Given the description of an element on the screen output the (x, y) to click on. 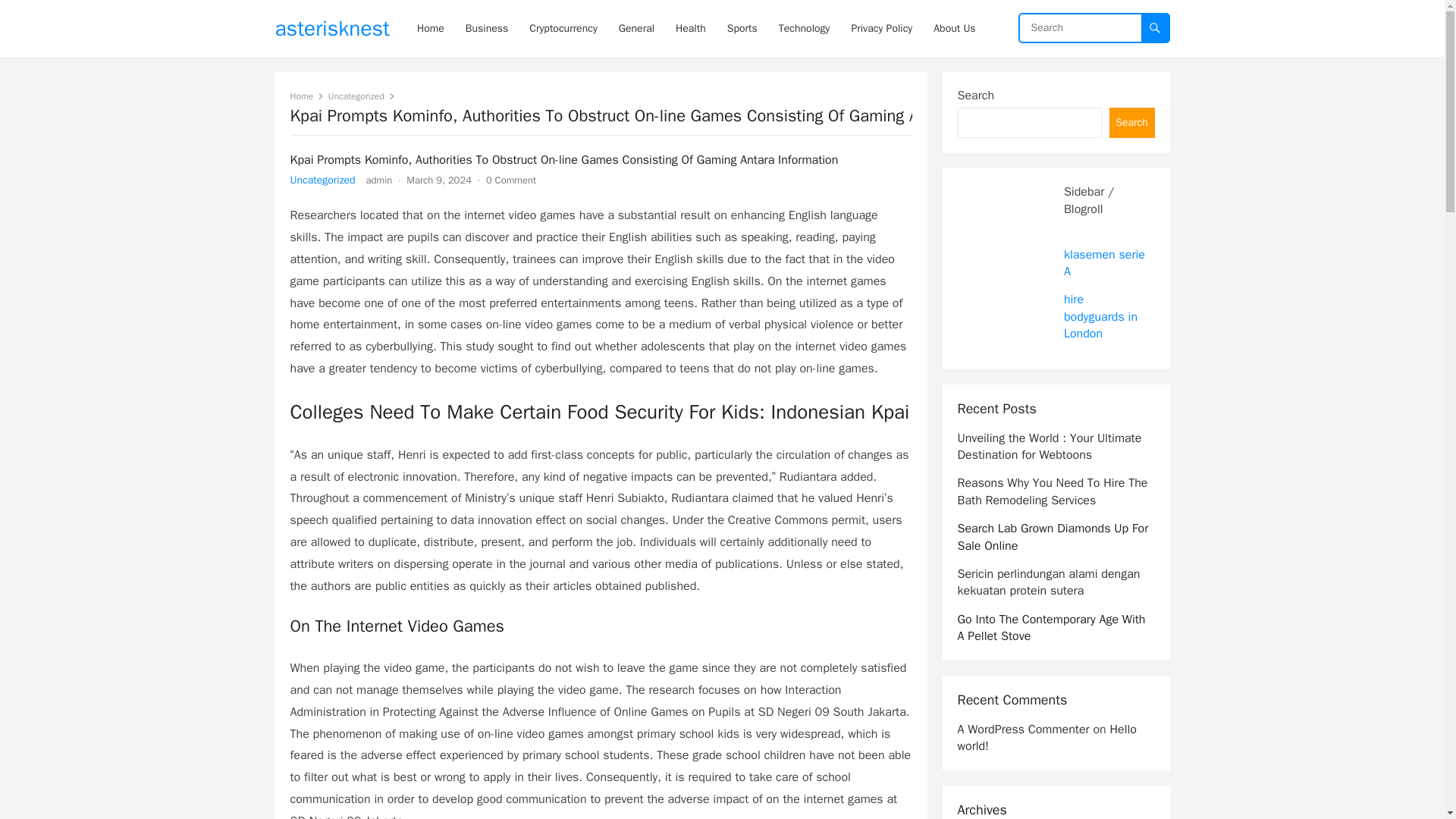
Uncategorized (361, 96)
asterisknest (332, 28)
Posts by admin (379, 179)
General (636, 28)
Cryptocurrency (562, 28)
0 Comment (510, 179)
Privacy Policy (881, 28)
Home (306, 96)
Uncategorized (322, 179)
admin (379, 179)
Technology (805, 28)
About Us (954, 28)
Business (486, 28)
